Given the description of an element on the screen output the (x, y) to click on. 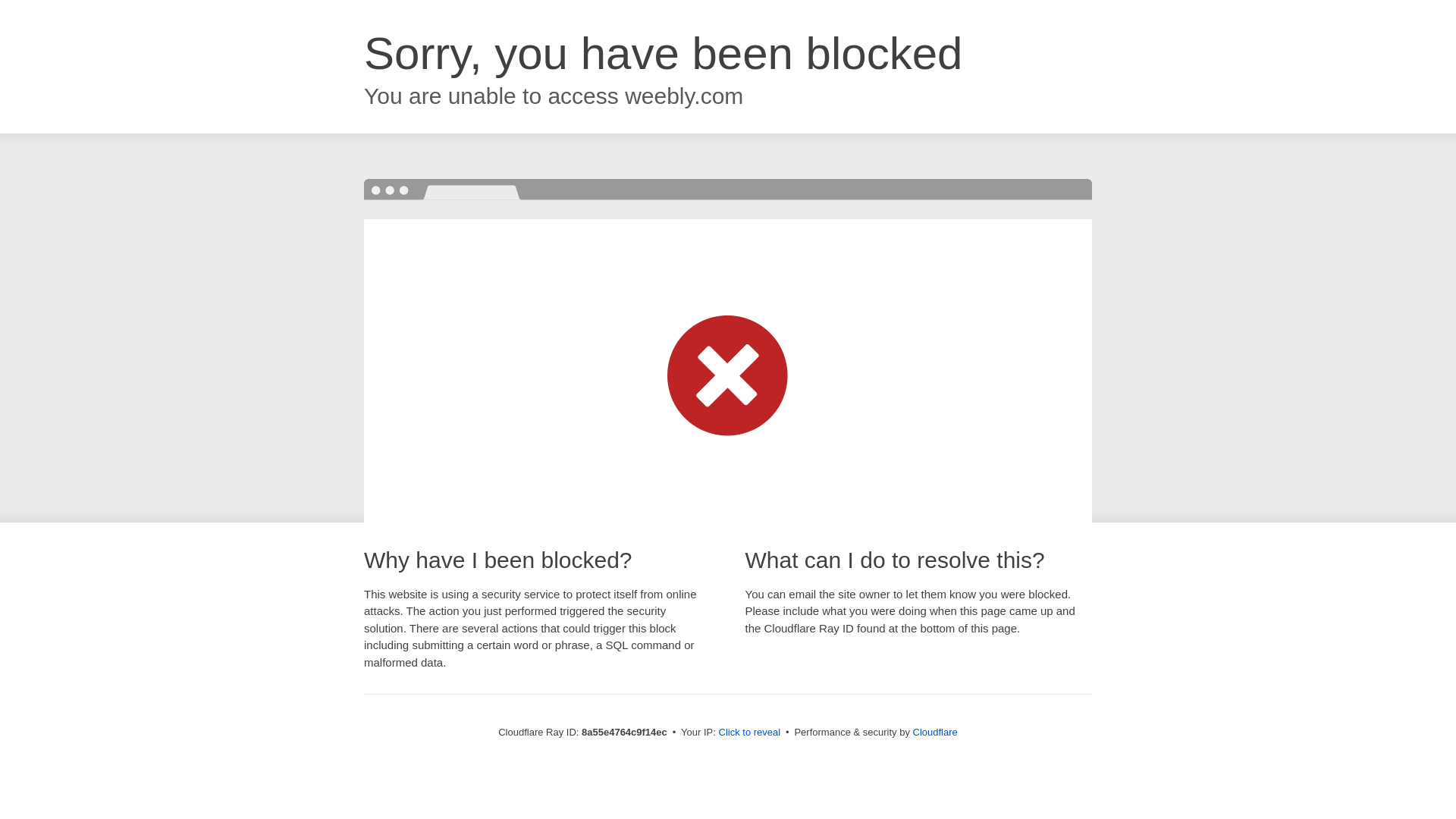
Click to reveal (749, 732)
Cloudflare (935, 731)
